Given the description of an element on the screen output the (x, y) to click on. 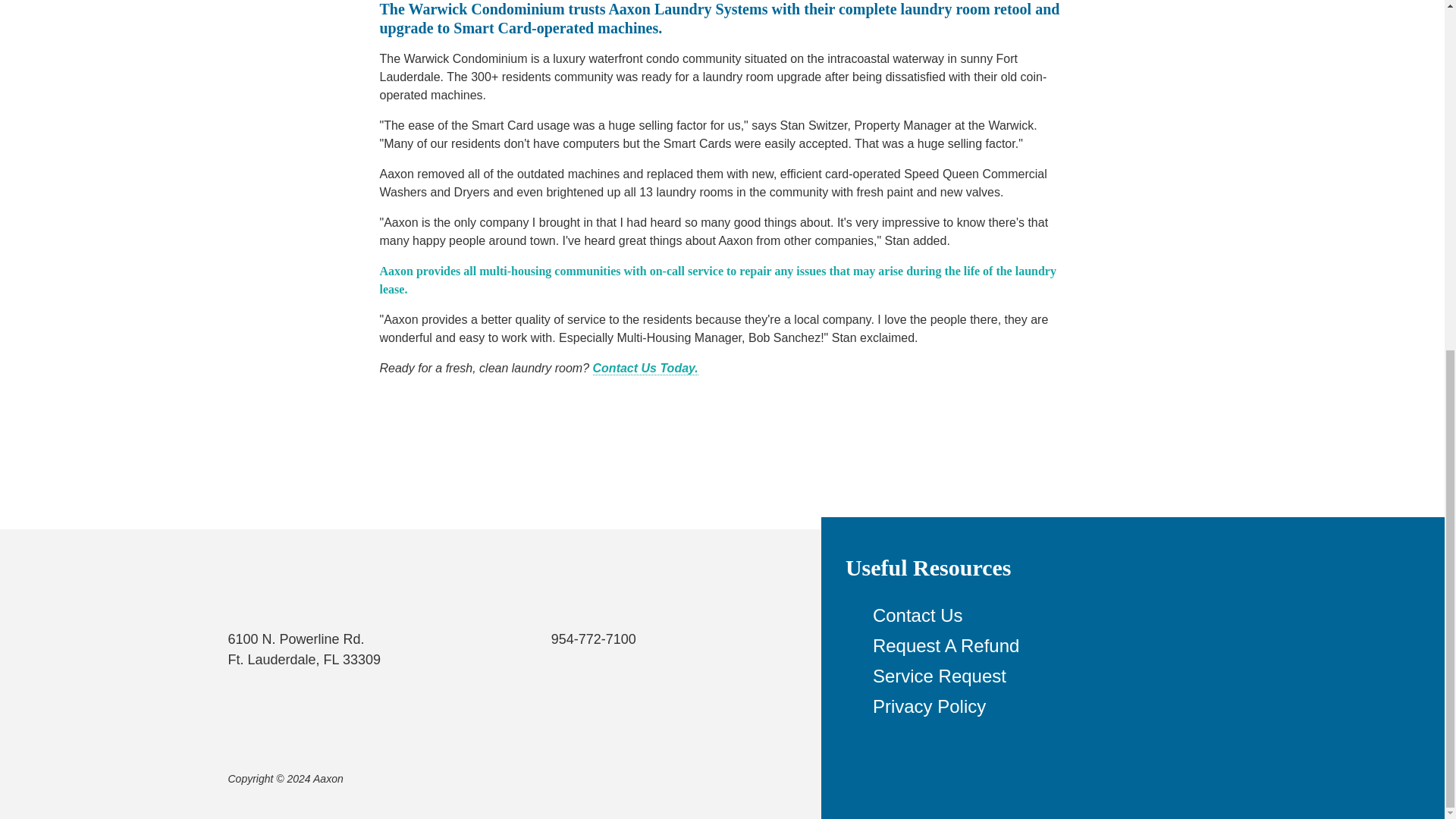
Facebook (680, 779)
LinkedIn (741, 779)
YouTube (710, 779)
